Given the description of an element on the screen output the (x, y) to click on. 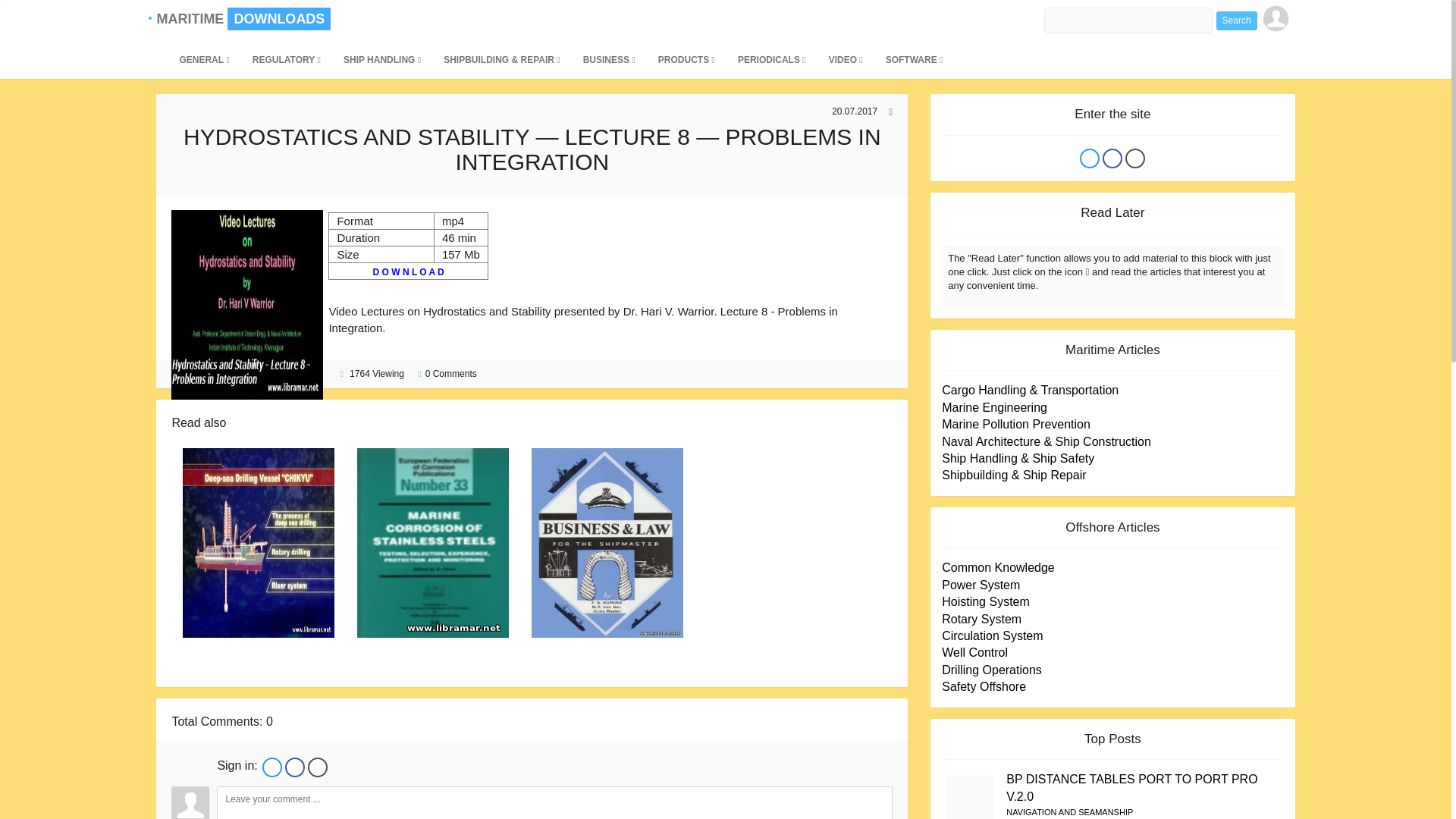
Search (1236, 20)
SHIP HANDLING (381, 59)
NAVIGATION AND SEAMANSHIP (1069, 811)
Log in with uID (1089, 158)
Log in with Google (1134, 158)
GENERAL (203, 59)
Log in with Facebook (1112, 158)
Search (1236, 20)
Log in with uID (272, 767)
REGULATORY (286, 59)
